Given the description of an element on the screen output the (x, y) to click on. 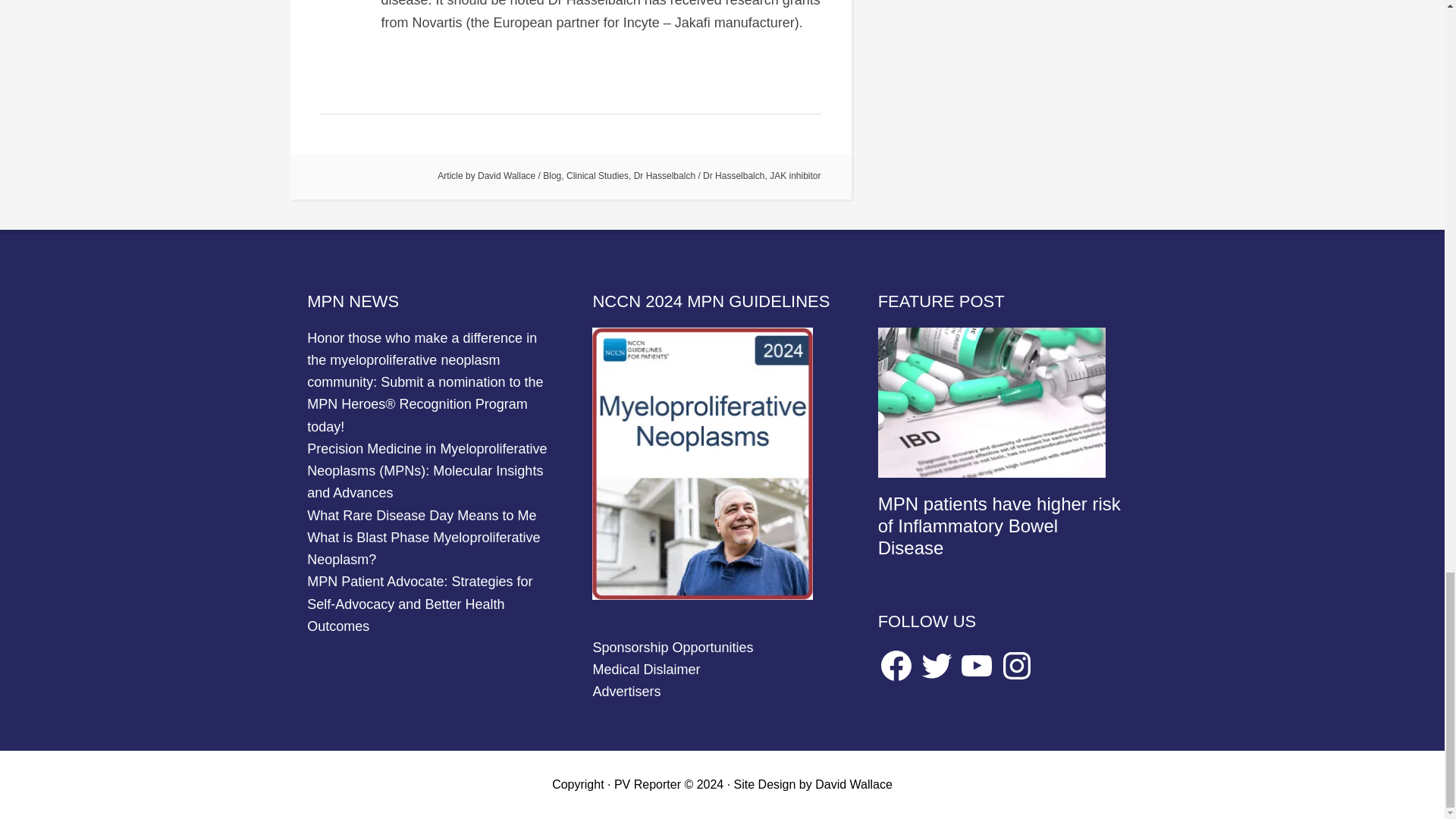
NCCN MPN Guidelines (702, 595)
